Given the description of an element on the screen output the (x, y) to click on. 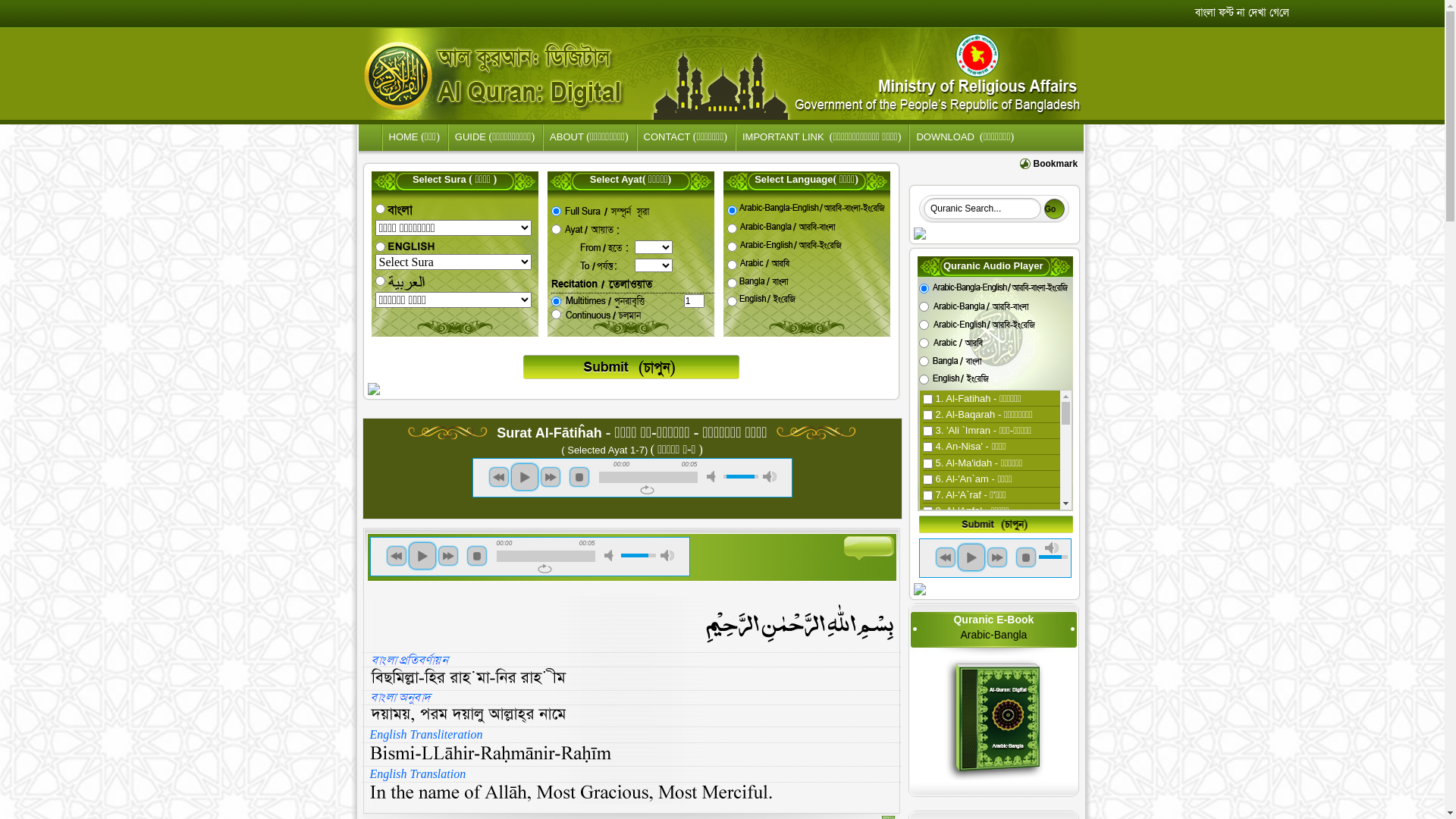
Bookmark Element type: text (1054, 163)
play Element type: text (524, 476)
5 Element type: text (923, 361)
Search Element type: hover (1054, 208)
play Element type: text (421, 555)
6 Element type: text (923, 379)
previous Element type: text (945, 556)
2 Element type: text (923, 306)
1 Element type: text (923, 288)
next Element type: text (447, 555)
previous Element type: text (395, 555)
mute Element type: text (610, 555)
max volume Element type: text (666, 555)
play Element type: text (971, 557)
4 Element type: text (923, 343)
next Element type: text (996, 556)
repeat Element type: text (646, 489)
previous Element type: text (498, 476)
Go Element type: text (1054, 208)
next Element type: text (550, 476)
mute Element type: text (713, 476)
max volume Element type: text (1051, 547)
stop Element type: text (475, 555)
3 Element type: text (923, 324)
stop Element type: text (1025, 556)
stop Element type: text (578, 476)
repeat Element type: text (544, 568)
max volume Element type: text (769, 476)
